Given the description of an element on the screen output the (x, y) to click on. 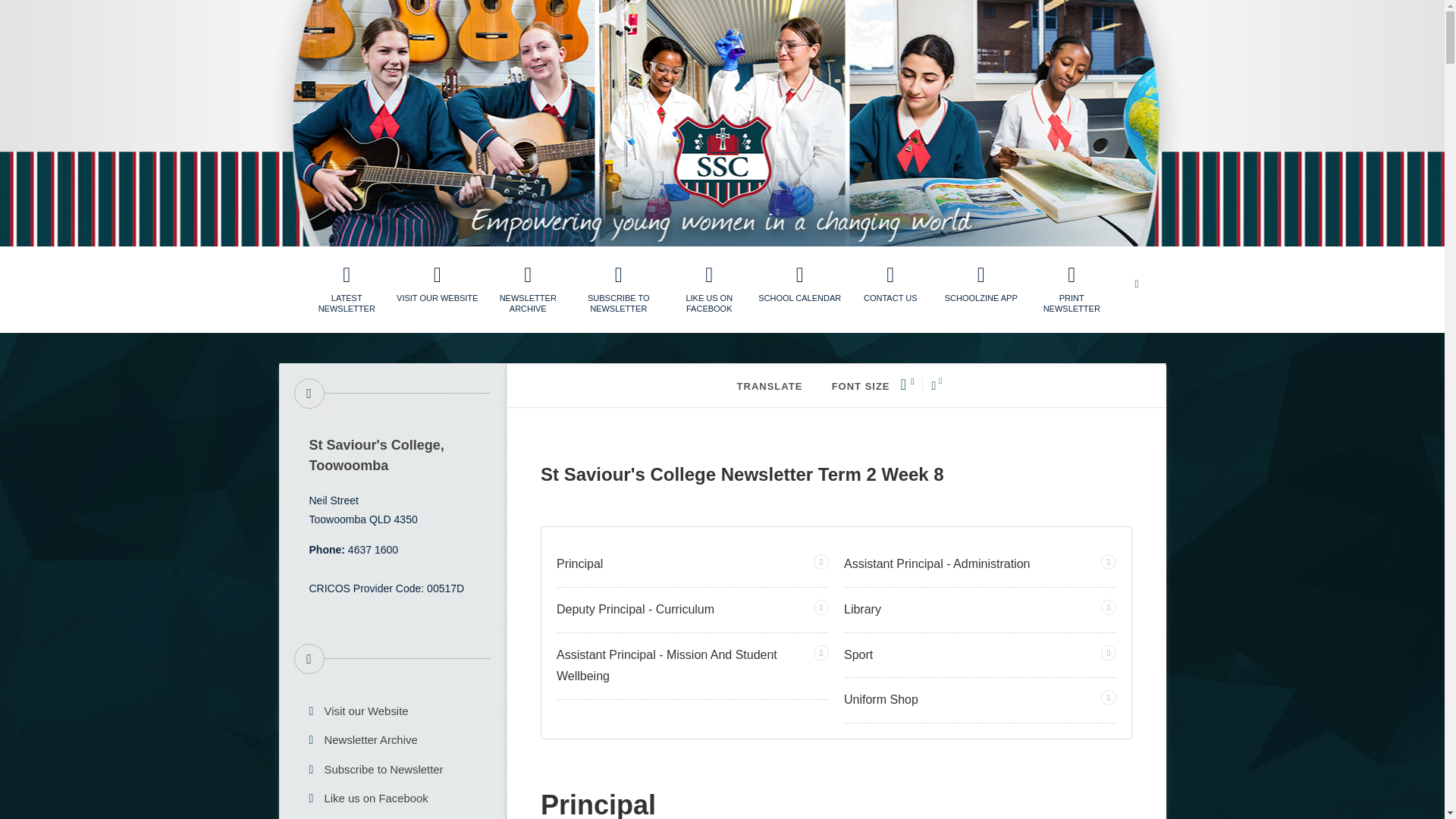
CONTACT US (890, 284)
Newsletter Archive (527, 289)
Visit our Website (392, 711)
Schoolzine App (981, 284)
School Calendar (392, 817)
SCHOOL CALENDAR (799, 284)
Like us on Facebook (709, 289)
PRINT NEWSLETTER (1072, 289)
SCHOOLZINE APP (981, 284)
Sport (980, 655)
School Calendar (799, 284)
Uniform Shop (980, 700)
LIKE US ON FACEBOOK (709, 289)
Contact Us (890, 284)
Subscribe to Newsletter (392, 769)
